Given the description of an element on the screen output the (x, y) to click on. 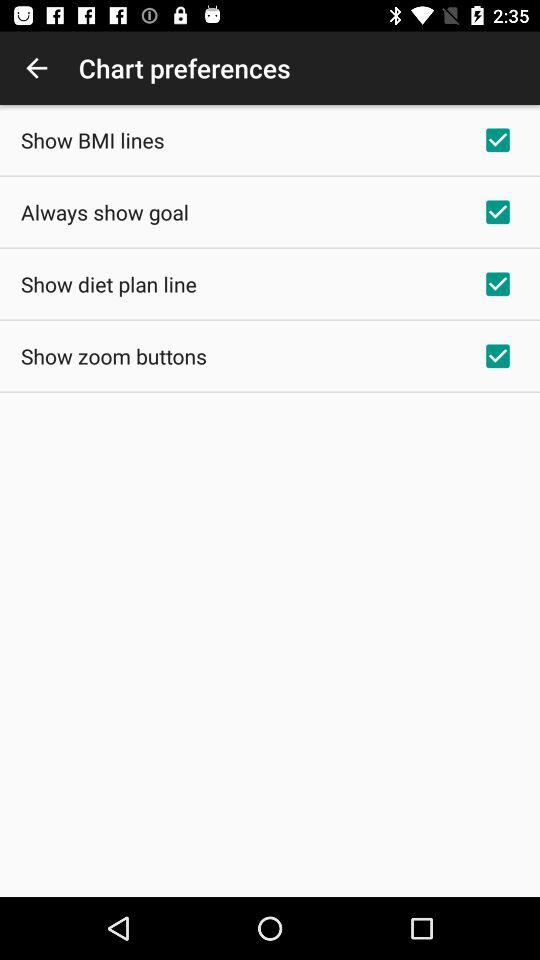
open always show goal (104, 211)
